Given the description of an element on the screen output the (x, y) to click on. 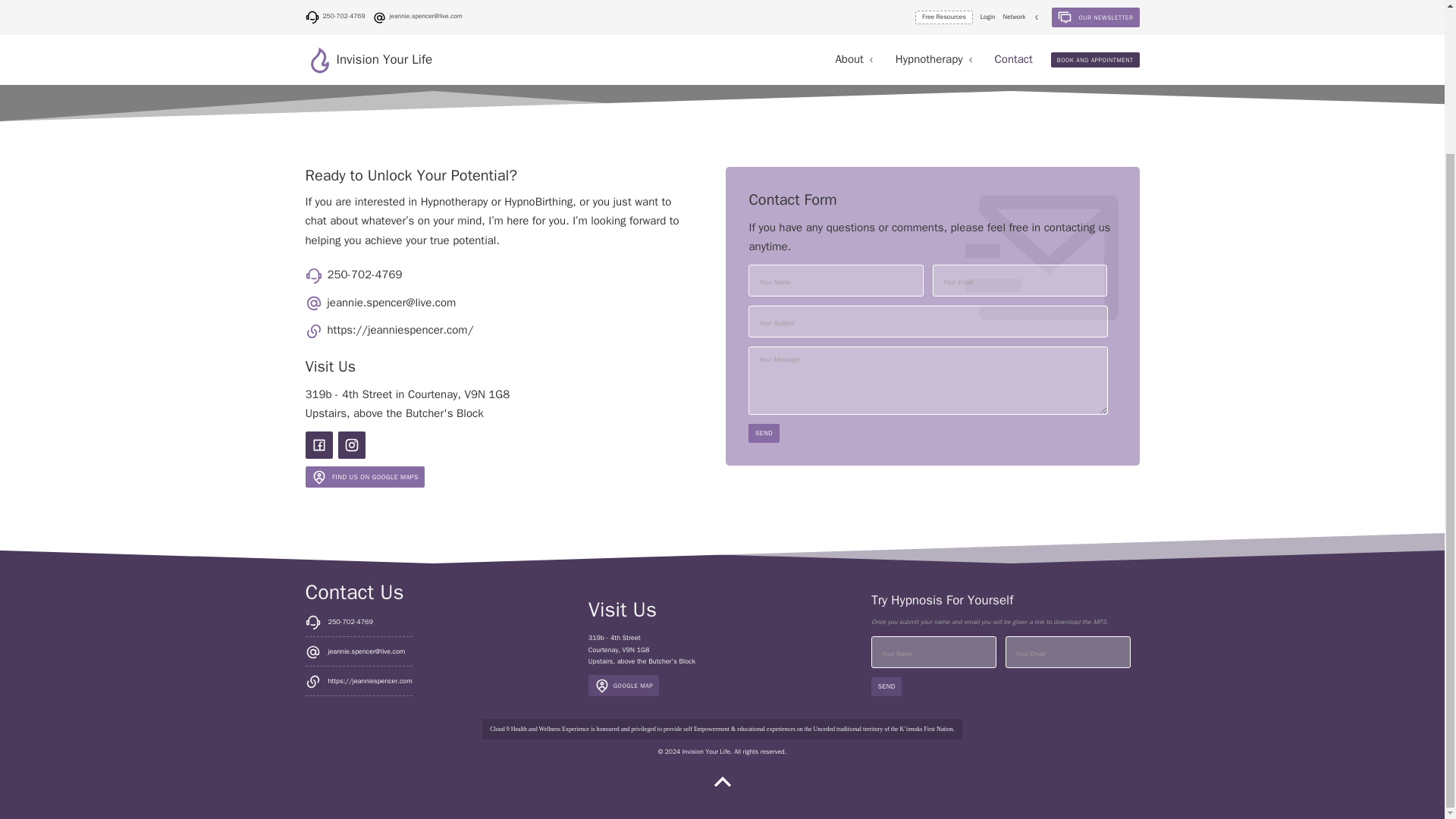
SEND (763, 433)
Home (692, 66)
250-702-4769 (388, 275)
FIND US ON GOOGLE MAPS (364, 477)
